Given the description of an element on the screen output the (x, y) to click on. 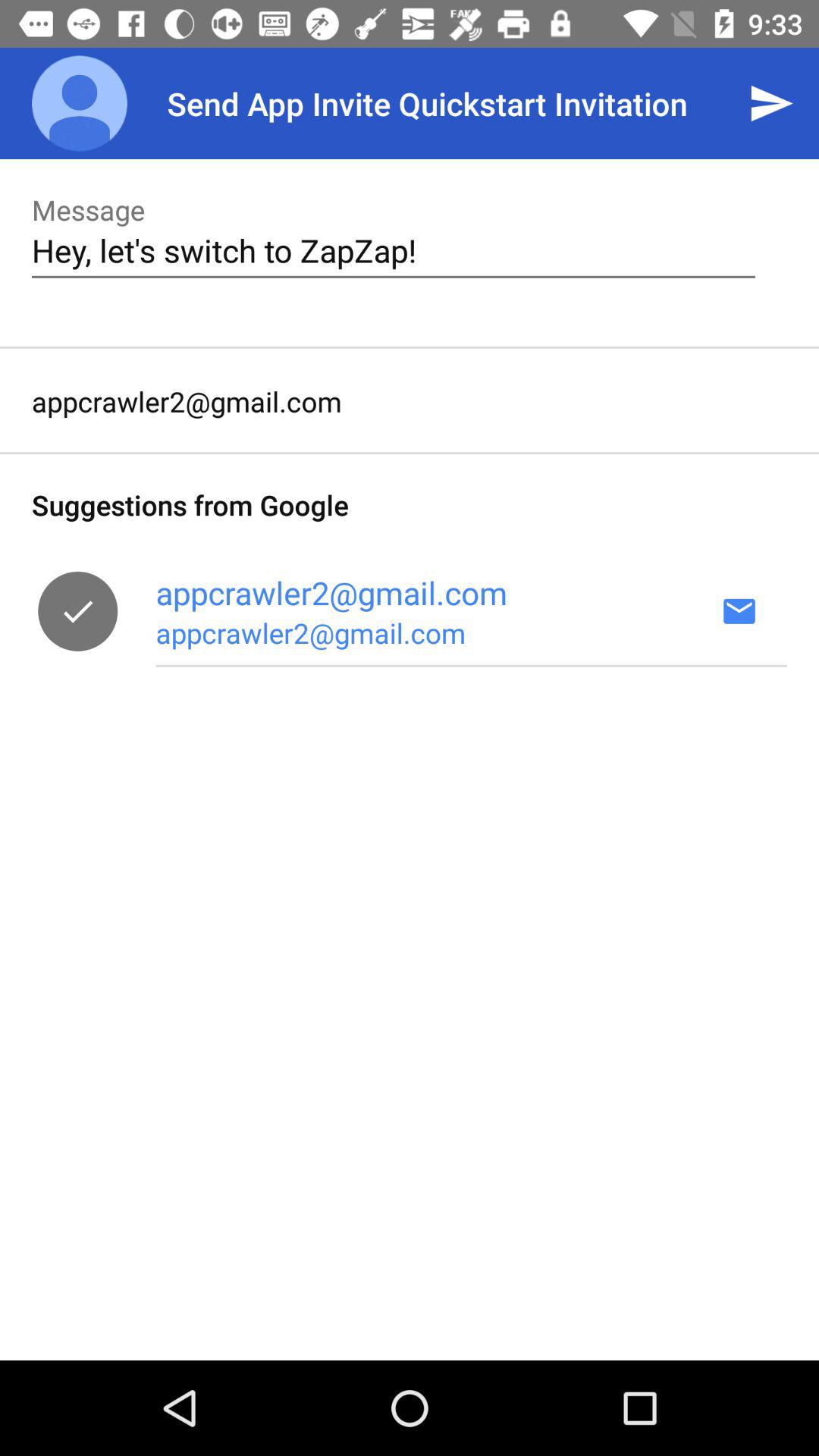
jump until hey let s (393, 249)
